Given the description of an element on the screen output the (x, y) to click on. 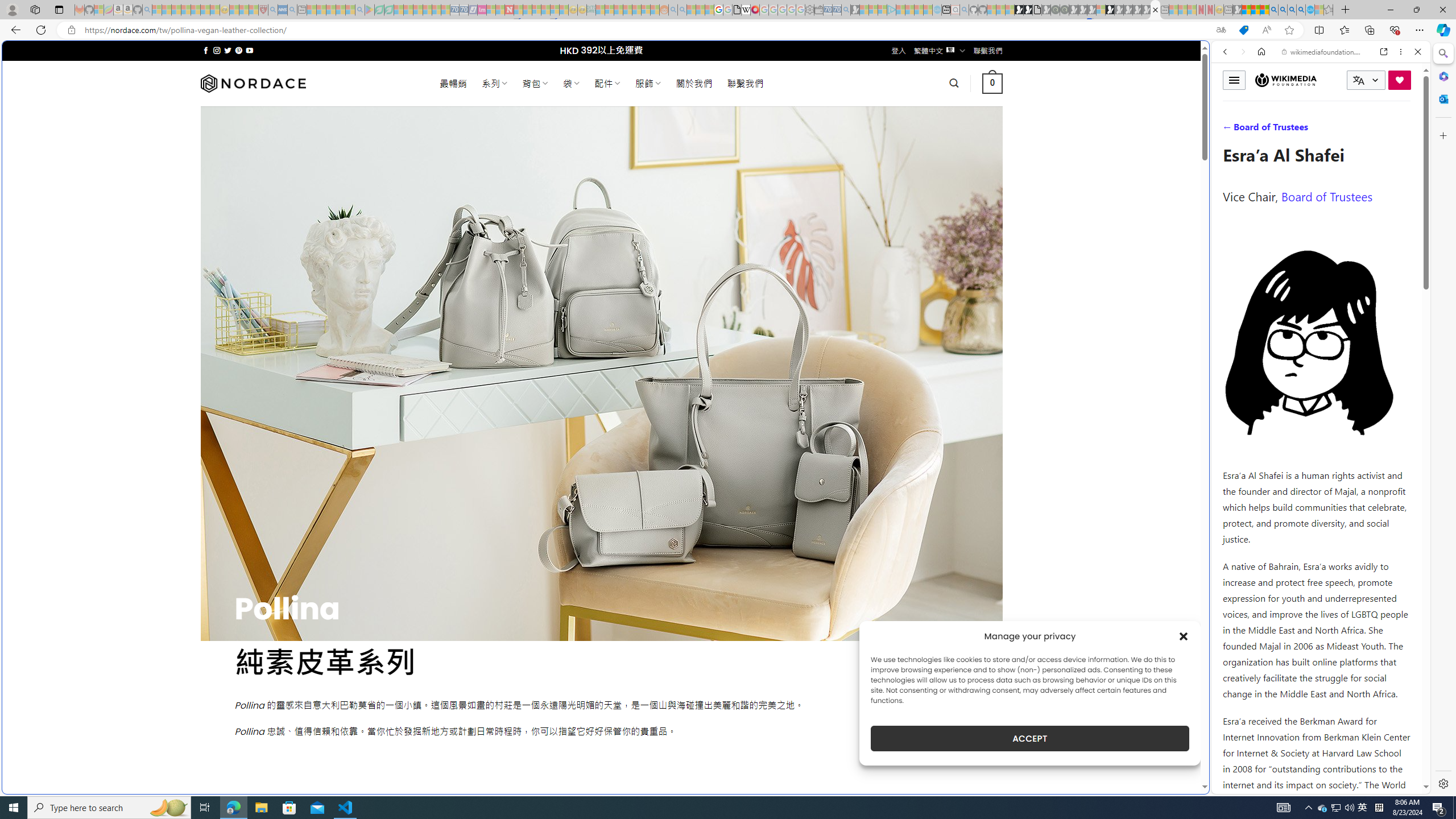
 0  (992, 83)
